Given the description of an element on the screen output the (x, y) to click on. 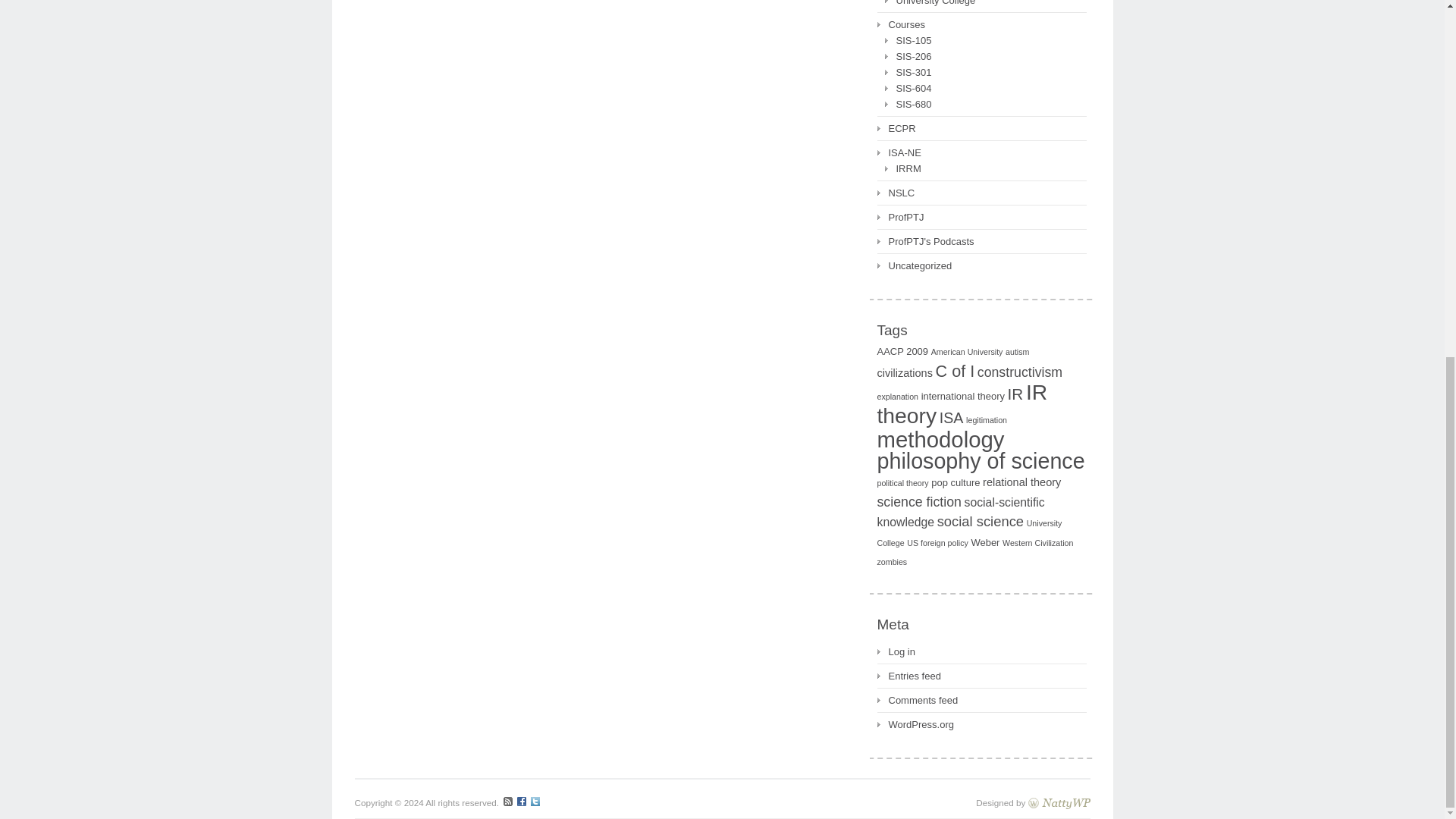
University College (929, 4)
SIS-301 (907, 72)
ProfPTJ (899, 217)
Courses (900, 24)
SIS-206 (907, 56)
SIS-105 (907, 40)
NSLC (895, 192)
Uncategorized (914, 265)
ECPR (895, 128)
autism (1017, 351)
IRRM (901, 168)
civilizations (903, 372)
ProfPTJ's Podcasts (925, 241)
SIS-680 (907, 104)
ISA-NE (898, 152)
